Given the description of an element on the screen output the (x, y) to click on. 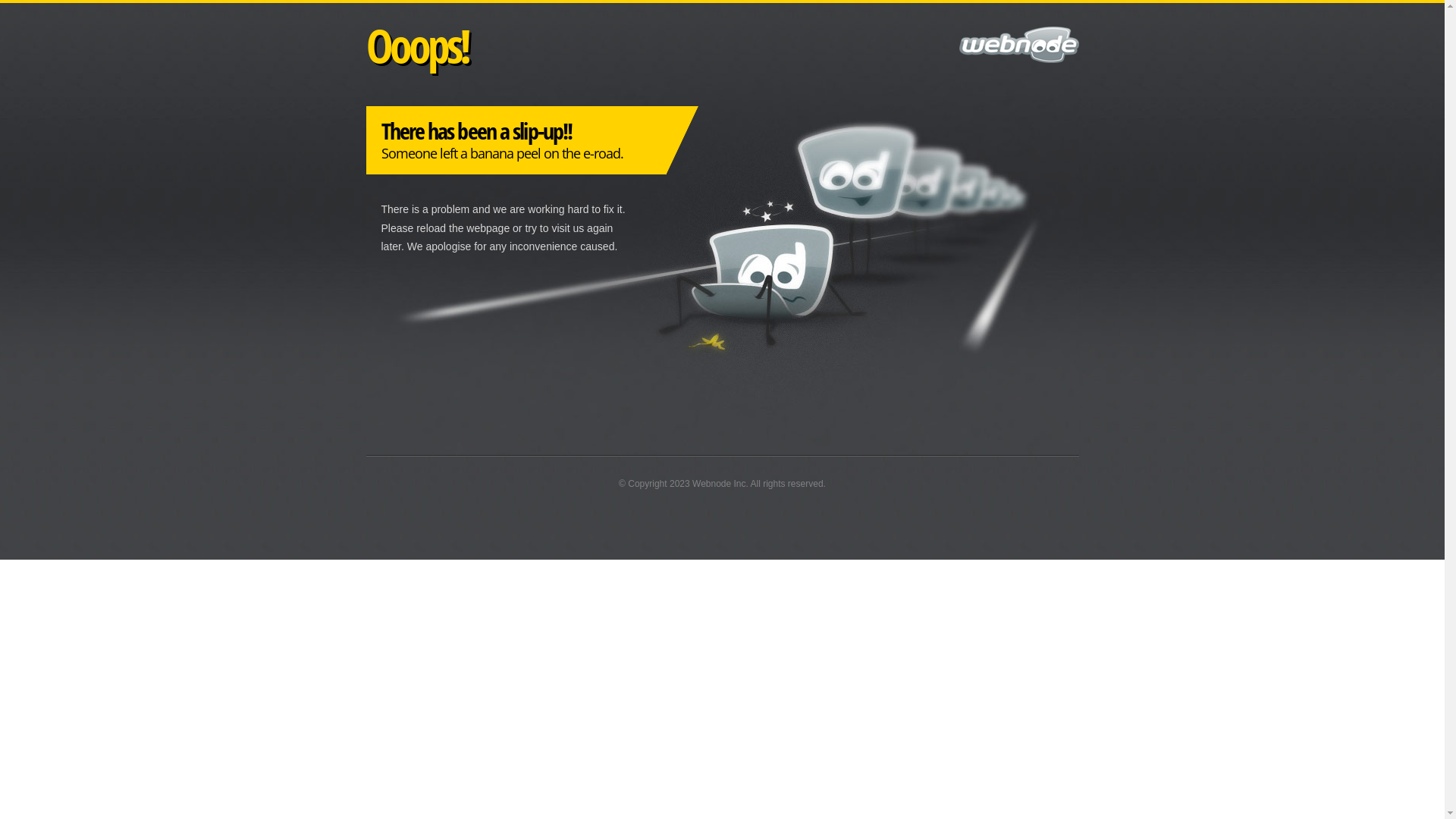
Webnode Inc Element type: text (719, 483)
